Given the description of an element on the screen output the (x, y) to click on. 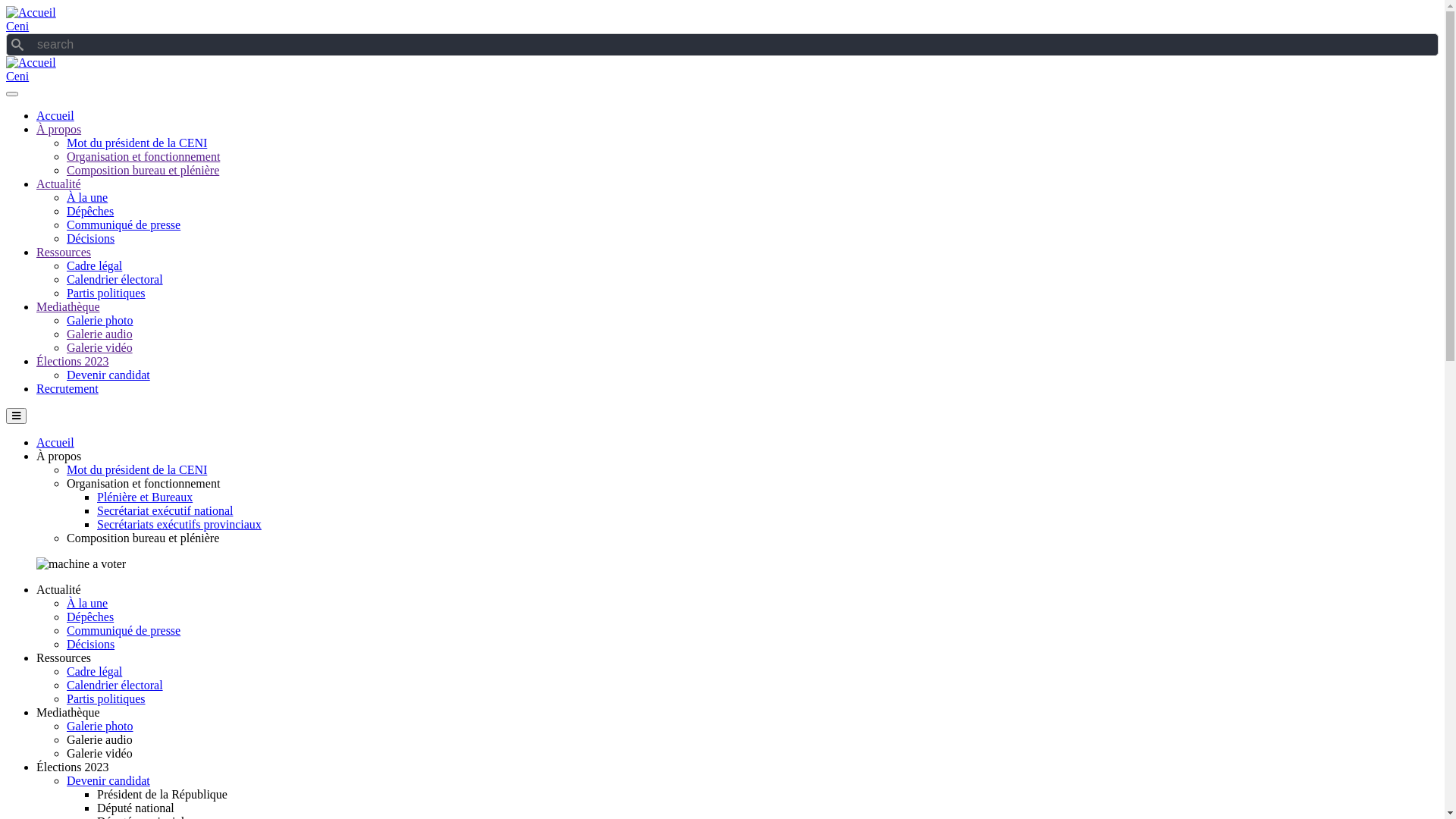
Aller au contenu principal Element type: text (6, 6)
Partis politiques Element type: text (105, 698)
Galerie photo Element type: text (99, 725)
Ressources Element type: text (63, 251)
Accueil Element type: text (55, 115)
Devenir candidat Element type: text (108, 374)
Ceni Element type: text (17, 75)
Accueil Element type: hover (31, 12)
Accueil Element type: text (55, 442)
Galerie photo Element type: text (99, 319)
Partis politiques Element type: text (105, 292)
Recrutement Element type: text (67, 388)
Galerie audio Element type: text (99, 333)
Ceni Element type: text (17, 25)
Devenir candidat Element type: text (108, 780)
Accueil Element type: hover (31, 62)
Organisation et fonctionnement Element type: text (142, 156)
